Given the description of an element on the screen output the (x, y) to click on. 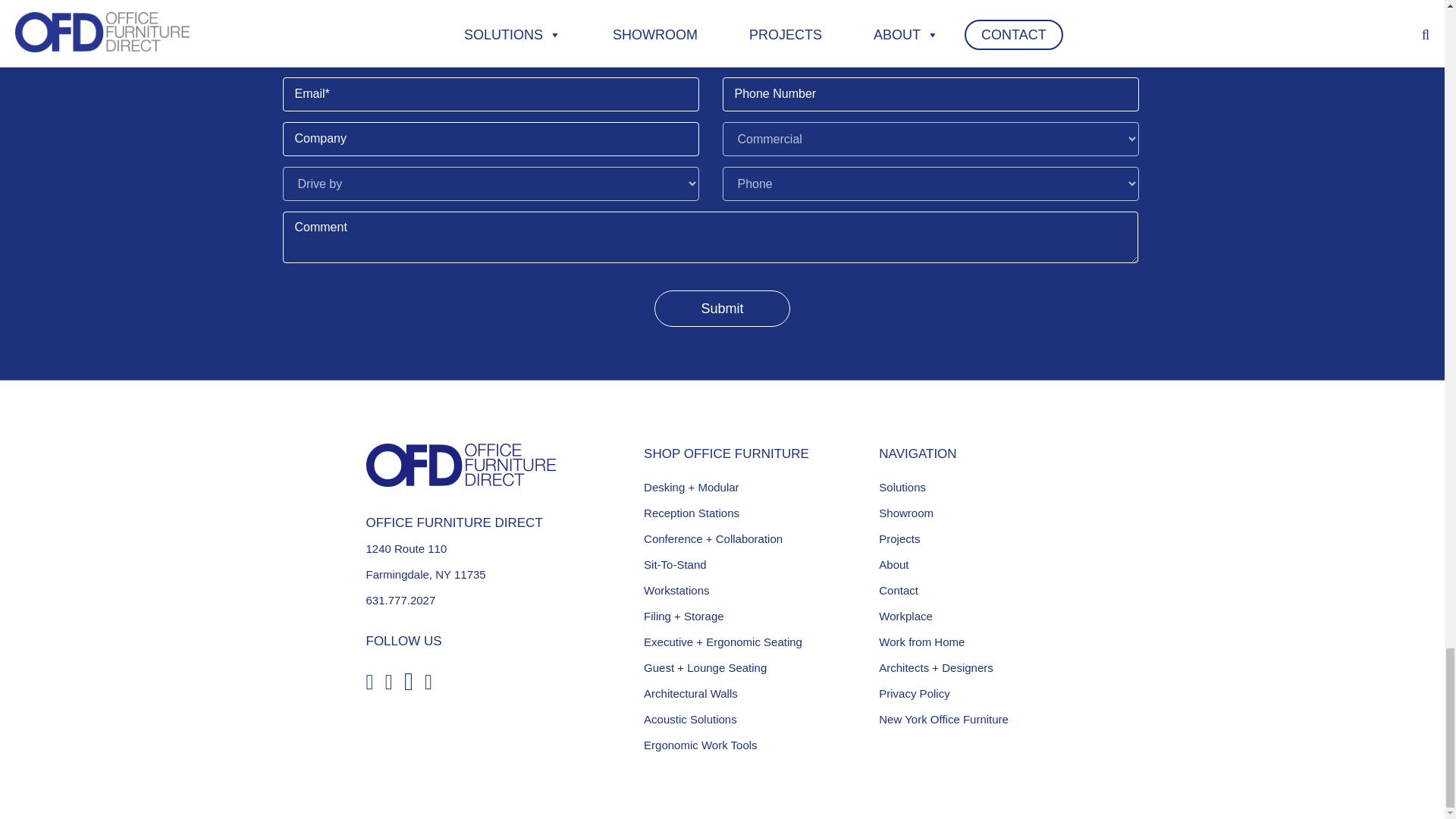
Submit (721, 308)
